Given the description of an element on the screen output the (x, y) to click on. 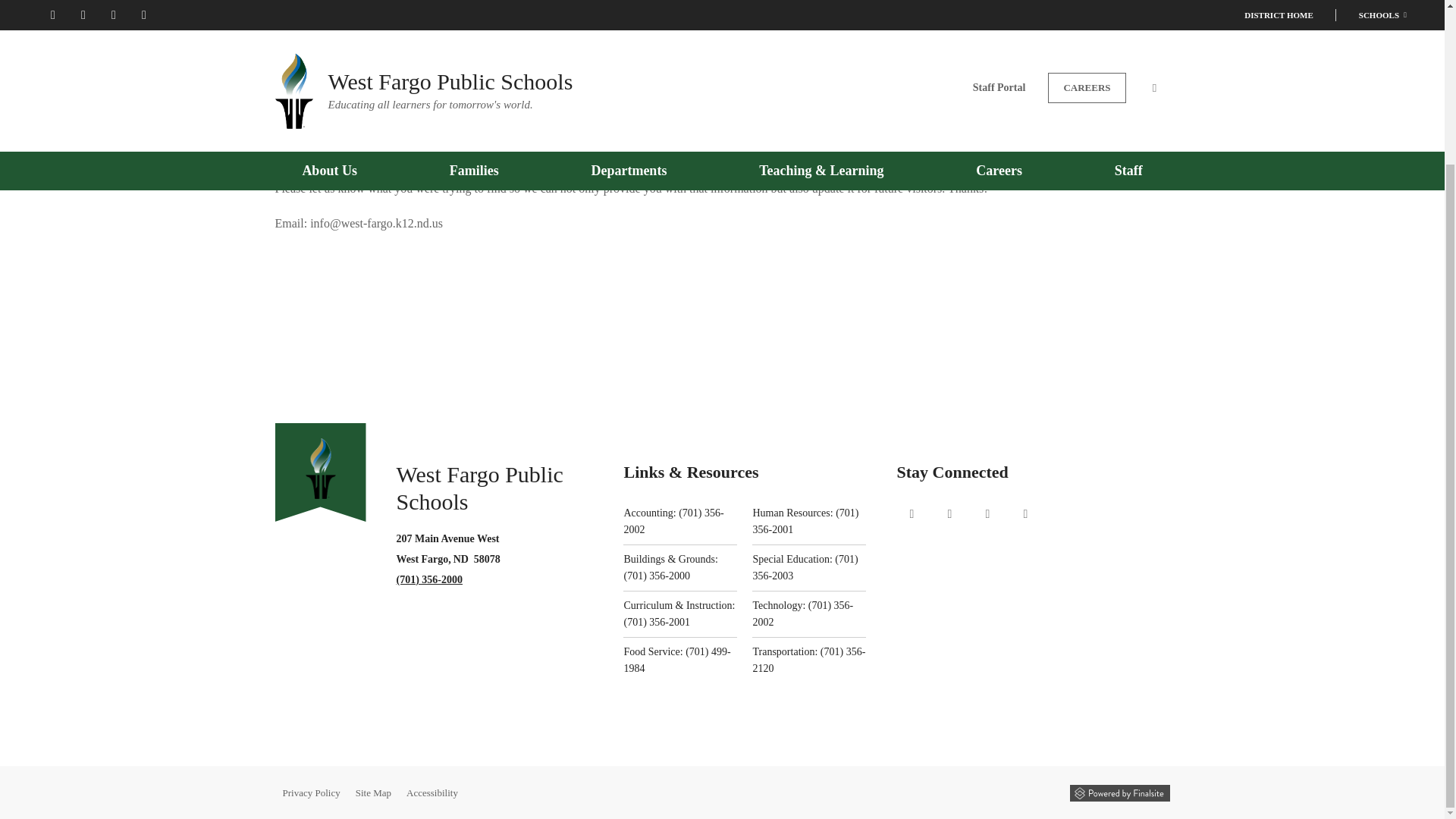
Powered by Finalsite opens in a new window (1118, 791)
